Given the description of an element on the screen output the (x, y) to click on. 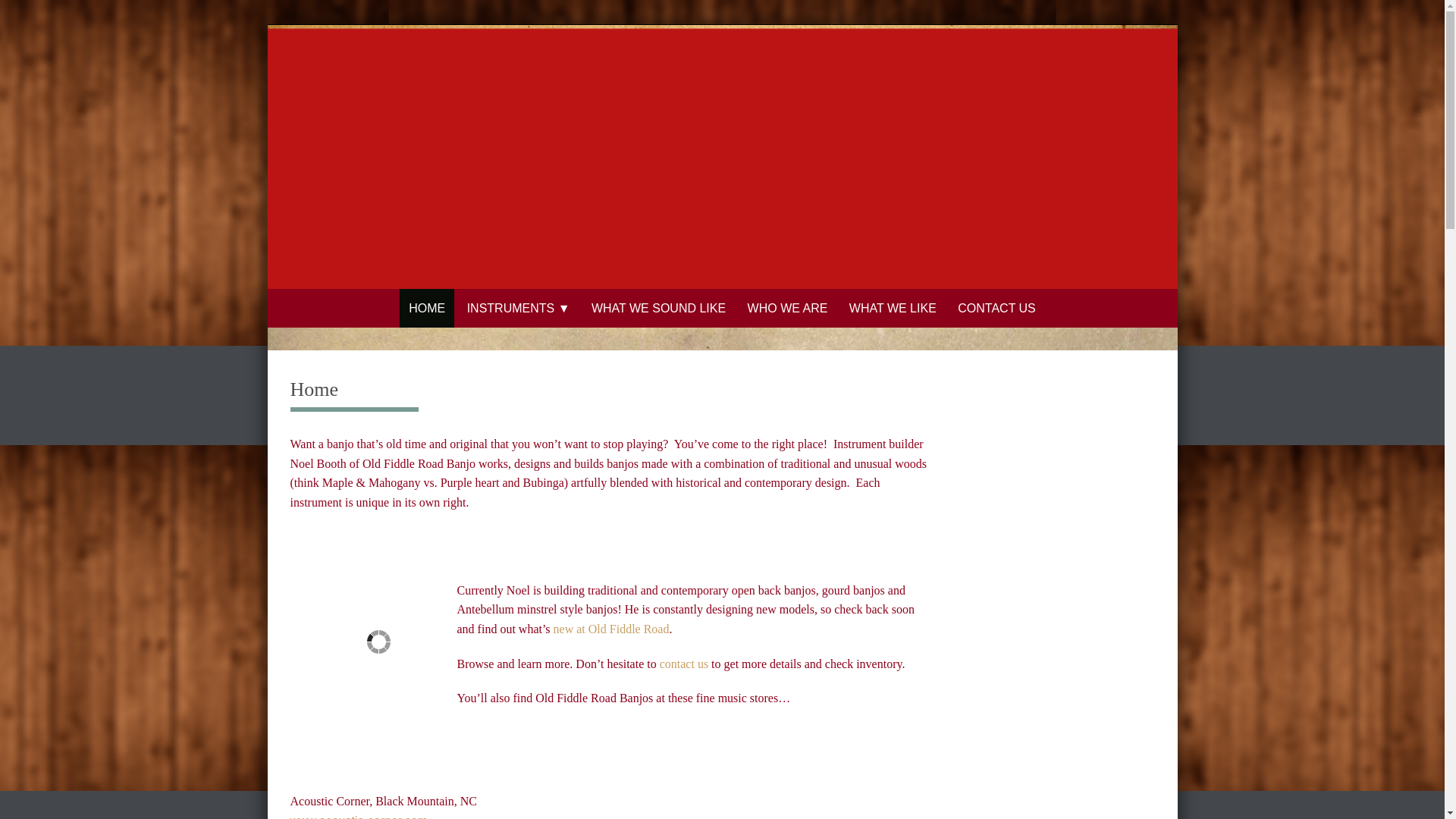
Contact Us (683, 663)
HOME (426, 308)
WHAT WE SOUND LIKE (658, 308)
WHO WE ARE (787, 308)
new at Old Fiddle Road (611, 628)
www.acoustic-corner.com (357, 816)
WHAT WE LIKE (892, 308)
CONTACT US (997, 308)
contact us (683, 663)
